Given the description of an element on the screen output the (x, y) to click on. 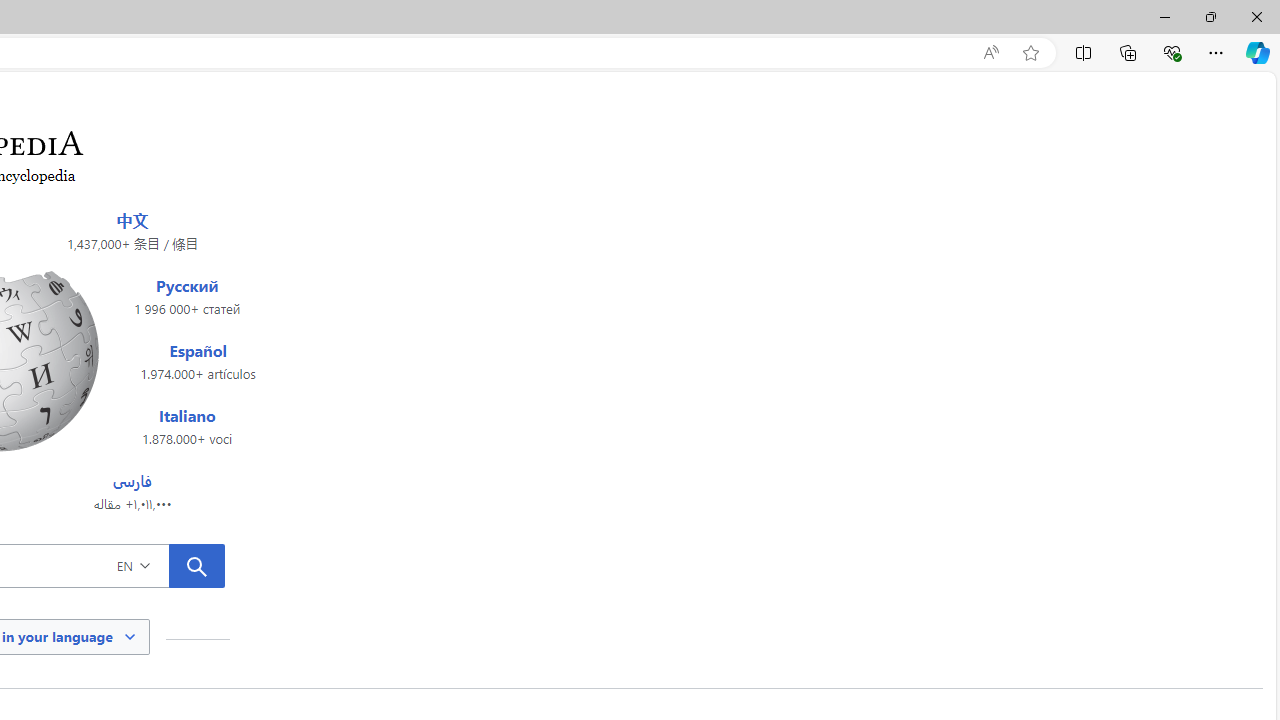
Italiano 1.878.000+ voci (187, 426)
EN (162, 565)
